Given the description of an element on the screen output the (x, y) to click on. 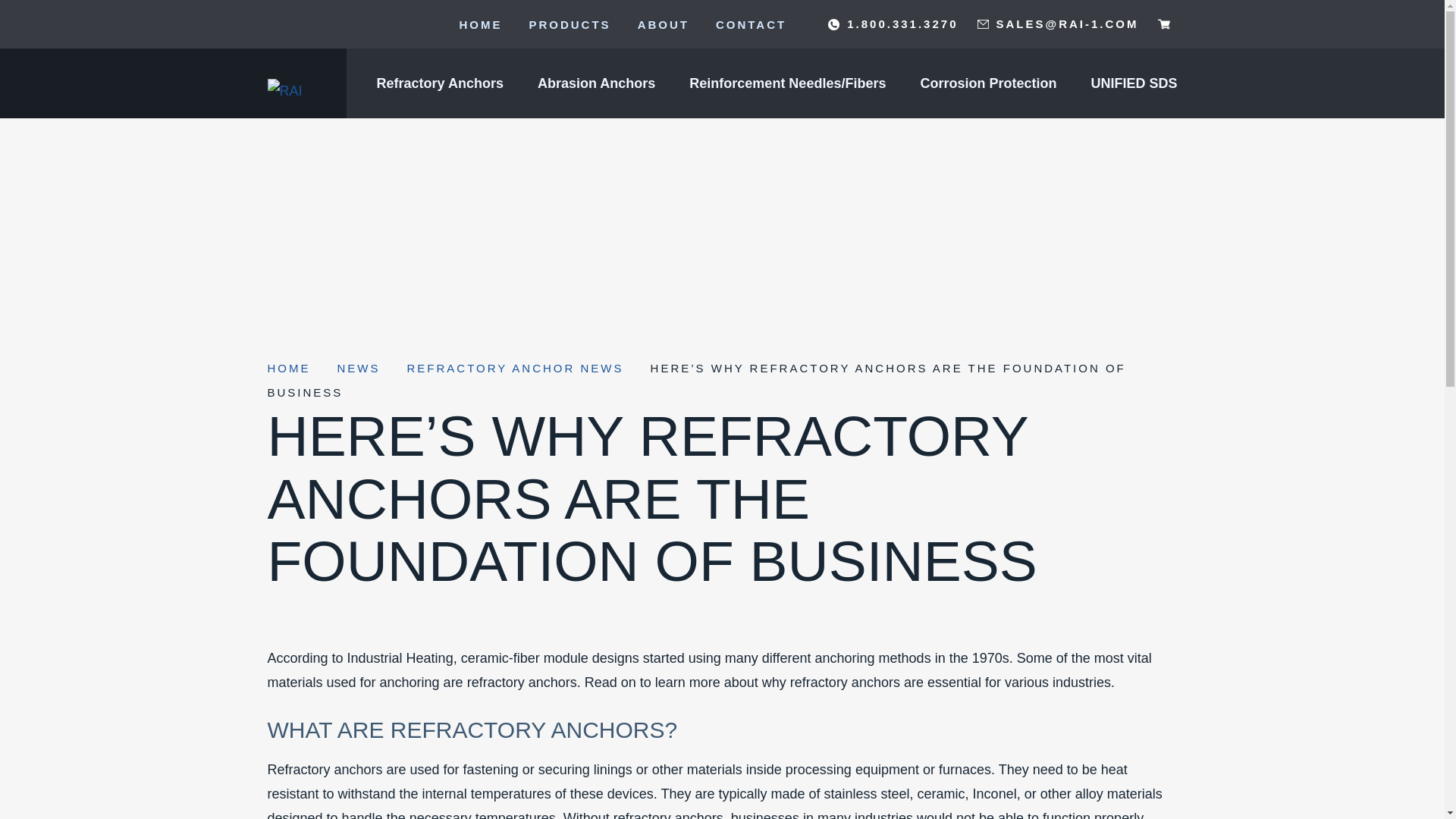
1.800.331.3270 (893, 24)
Go to News. (358, 367)
UNIFIED SDS (1133, 82)
HOME (288, 367)
NEWS (358, 367)
ABOUT (662, 24)
Go to the Refractory Anchor News category archives. (514, 367)
Refractory Anchors (440, 82)
HOME (480, 24)
CONTACT (751, 24)
Go to RAI. (288, 367)
PRODUCTS (569, 24)
Abrasion Anchors (596, 82)
REFRACTORY ANCHOR NEWS (514, 367)
Corrosion Protection (988, 82)
